Given the description of an element on the screen output the (x, y) to click on. 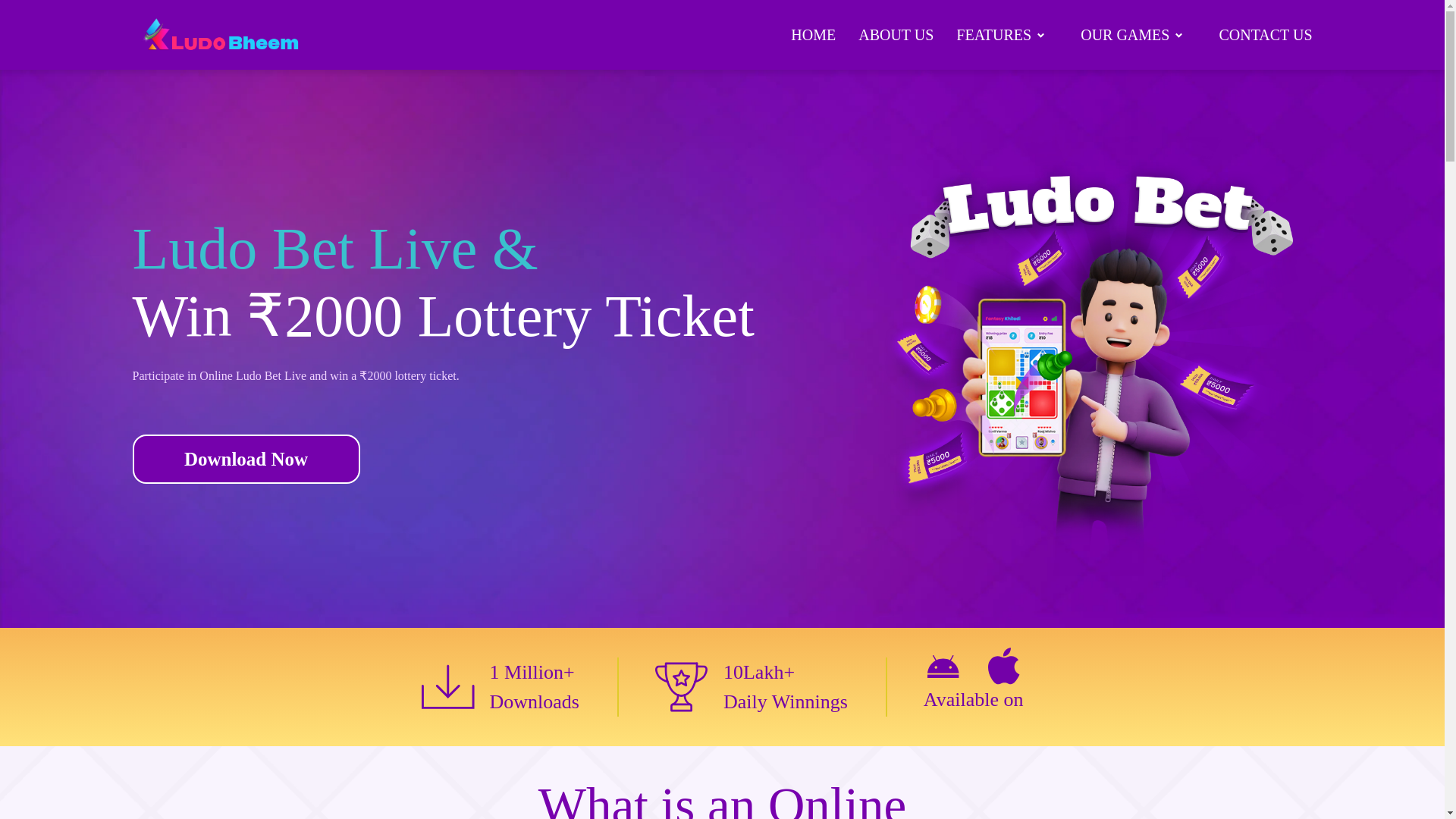
HOME (812, 34)
CONTACT US (1264, 34)
Download Now (443, 459)
OUR GAMES (1137, 34)
FEATURES (1007, 34)
ABOUT US (896, 34)
Download Now (245, 459)
